Given the description of an element on the screen output the (x, y) to click on. 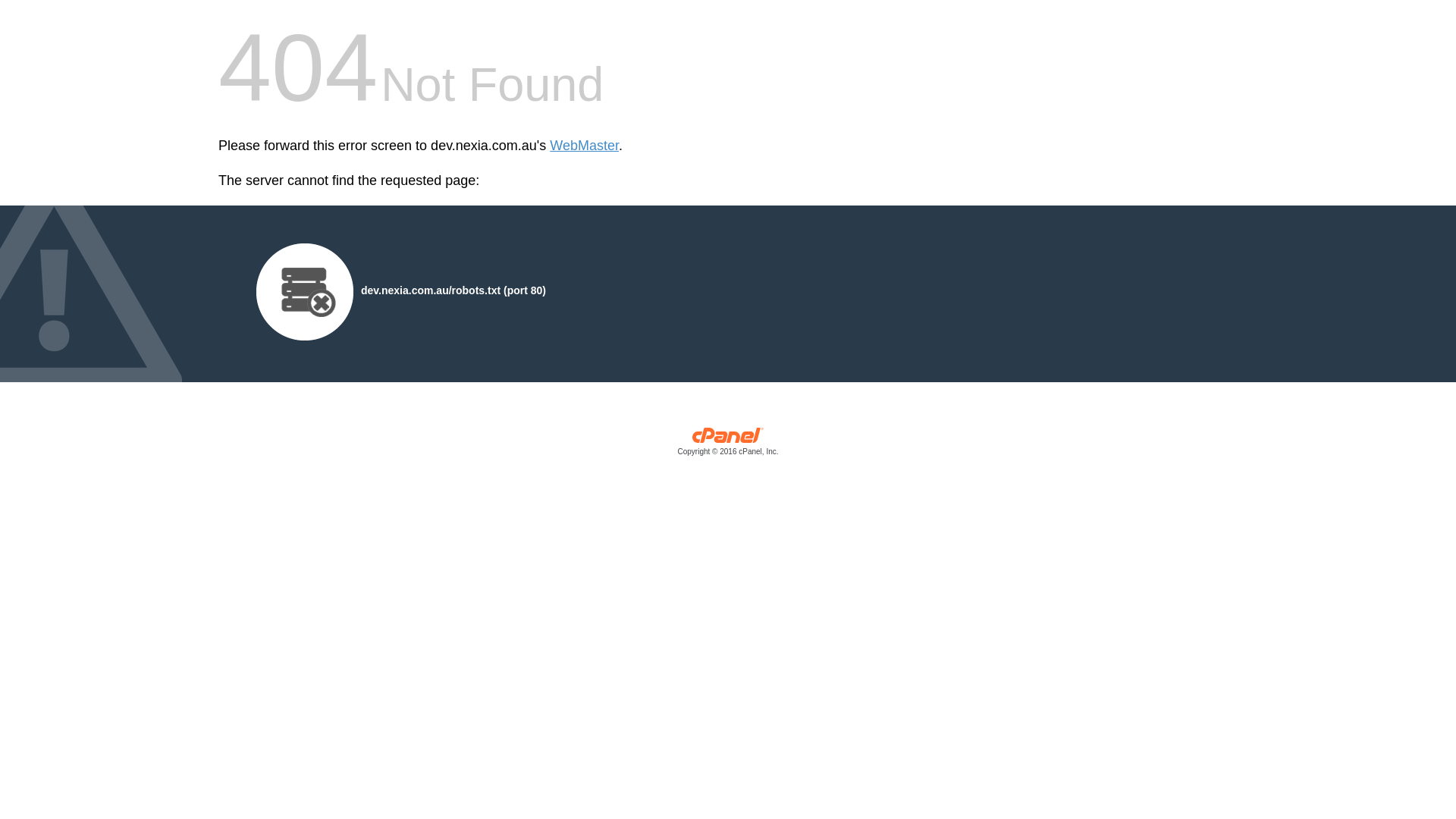
WebMaster Element type: text (583, 145)
